Given the description of an element on the screen output the (x, y) to click on. 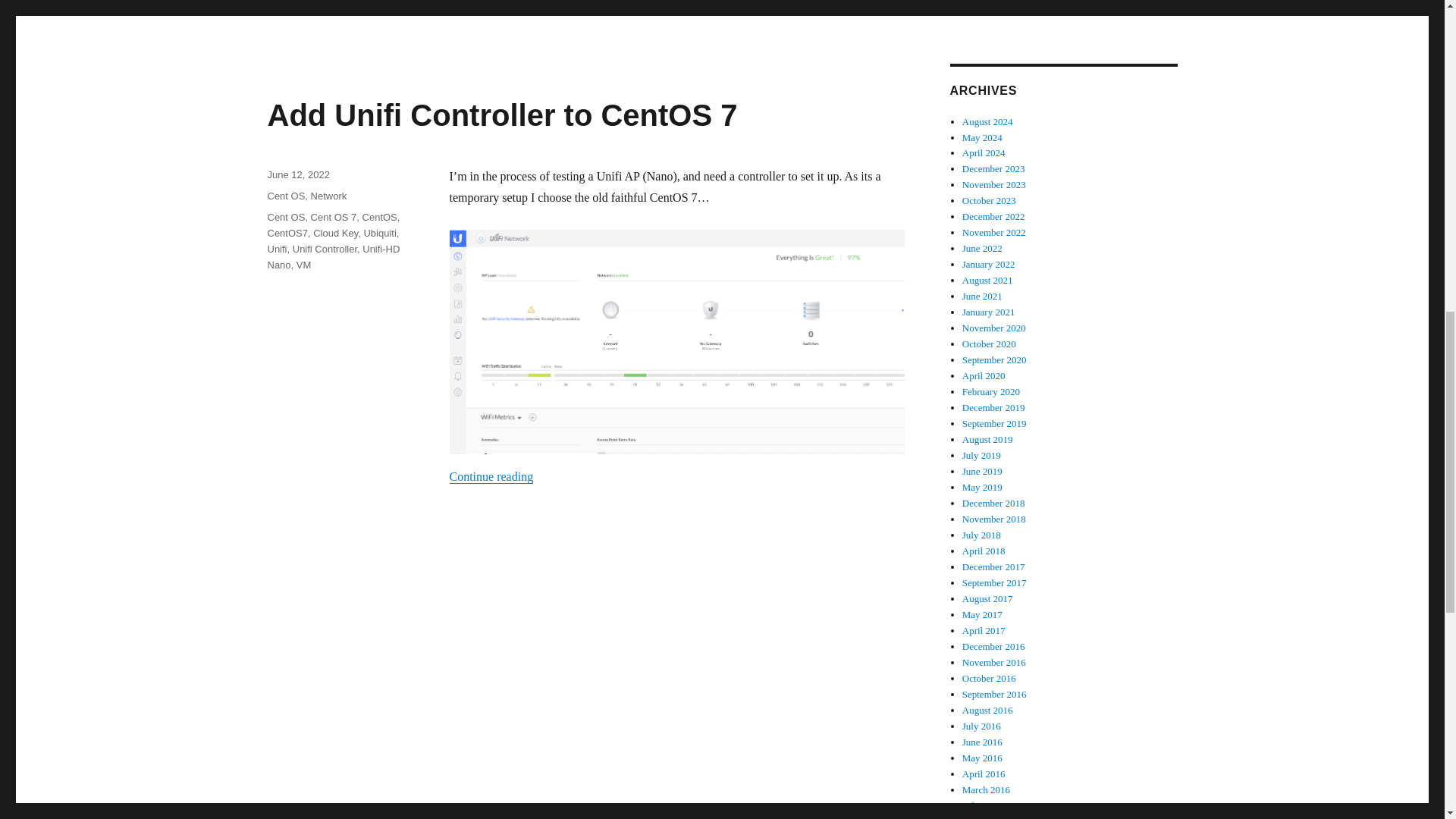
Cloud Key (335, 233)
CentOS (379, 216)
CentOS7 (286, 233)
Cent OS (285, 195)
Add Unifi Controller to CentOS 7 (501, 114)
Ubiquiti (379, 233)
Network (329, 195)
Cent OS 7 (333, 216)
Unifi Controller (324, 248)
Unifi-HD Nano (332, 257)
